Given the description of an element on the screen output the (x, y) to click on. 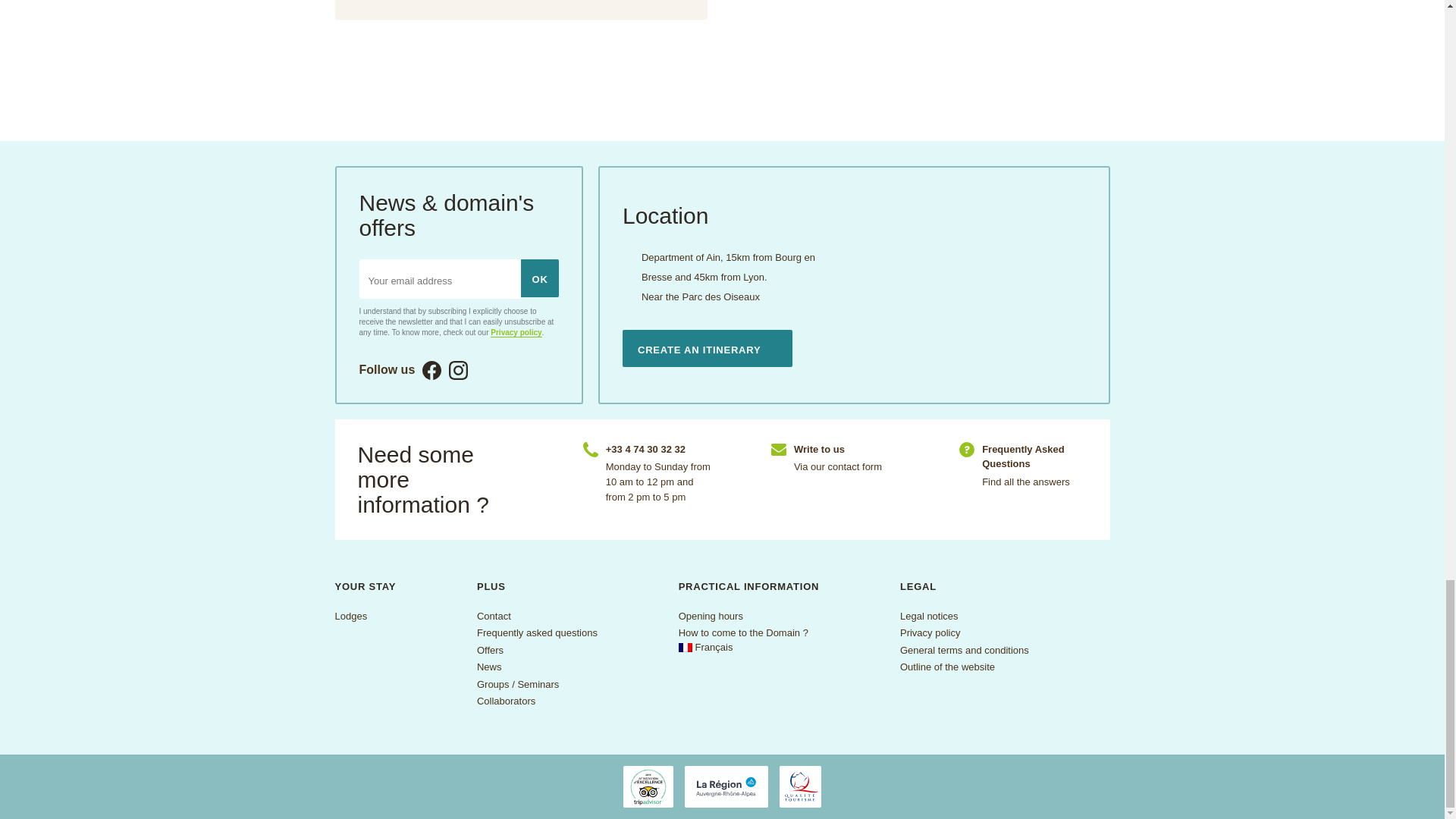
Privacy policy (515, 332)
Visitez notre page Facebook. Ouverture dans un nouvel onglet (431, 370)
Visitez notre Instagram. Ouverture dans un nouvel onglet (457, 370)
OK (540, 278)
OK (540, 278)
